Given the description of an element on the screen output the (x, y) to click on. 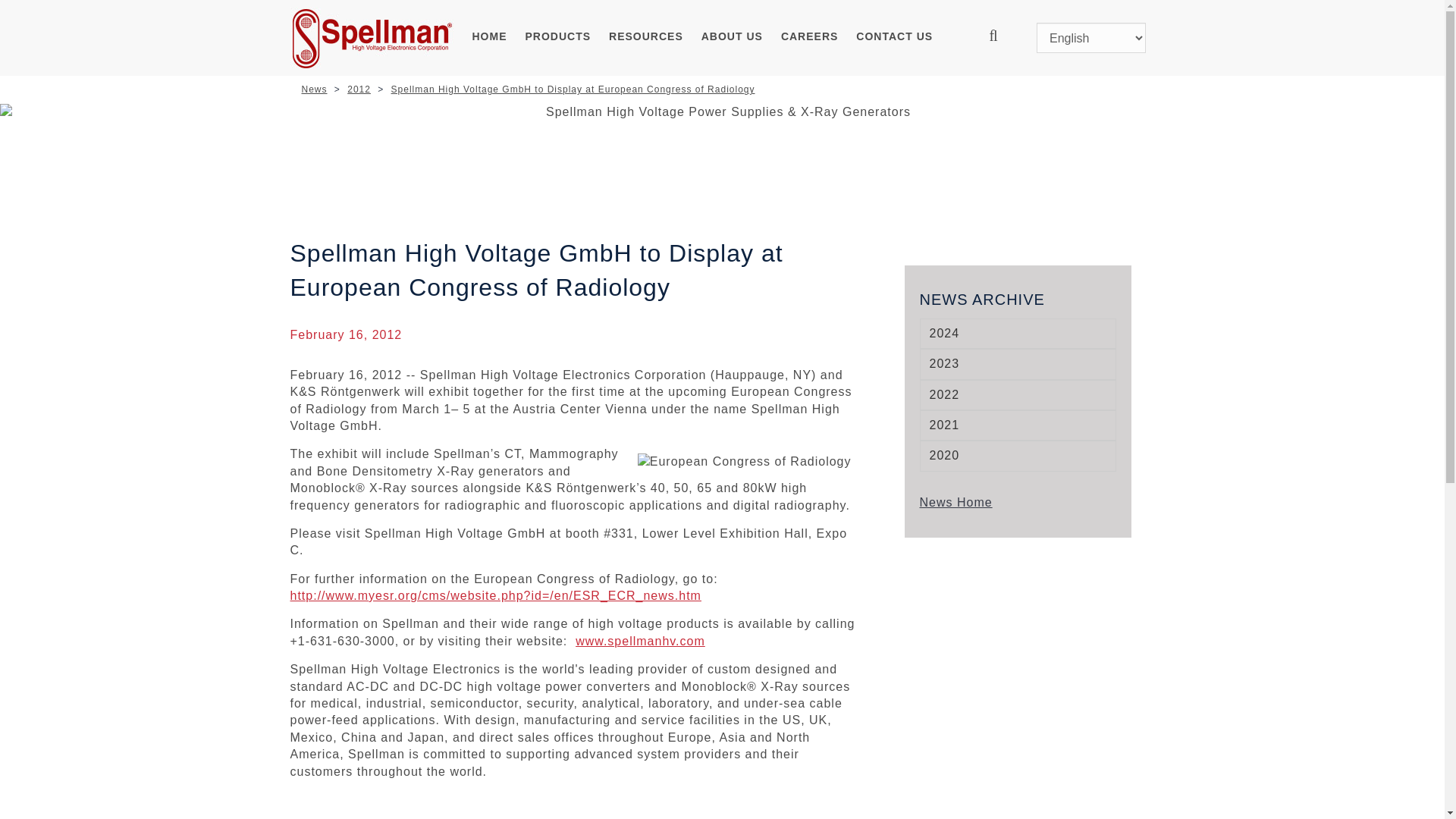
Spellman High Voltage Electronics Corporation's Logo (370, 37)
ABOUT US (731, 37)
2022 (1017, 395)
2023 (1017, 363)
2012 (359, 89)
2024 (1017, 333)
PRODUCTS (557, 37)
News (314, 89)
www.spellmanhv.com (639, 640)
2021 (1017, 425)
